Given the description of an element on the screen output the (x, y) to click on. 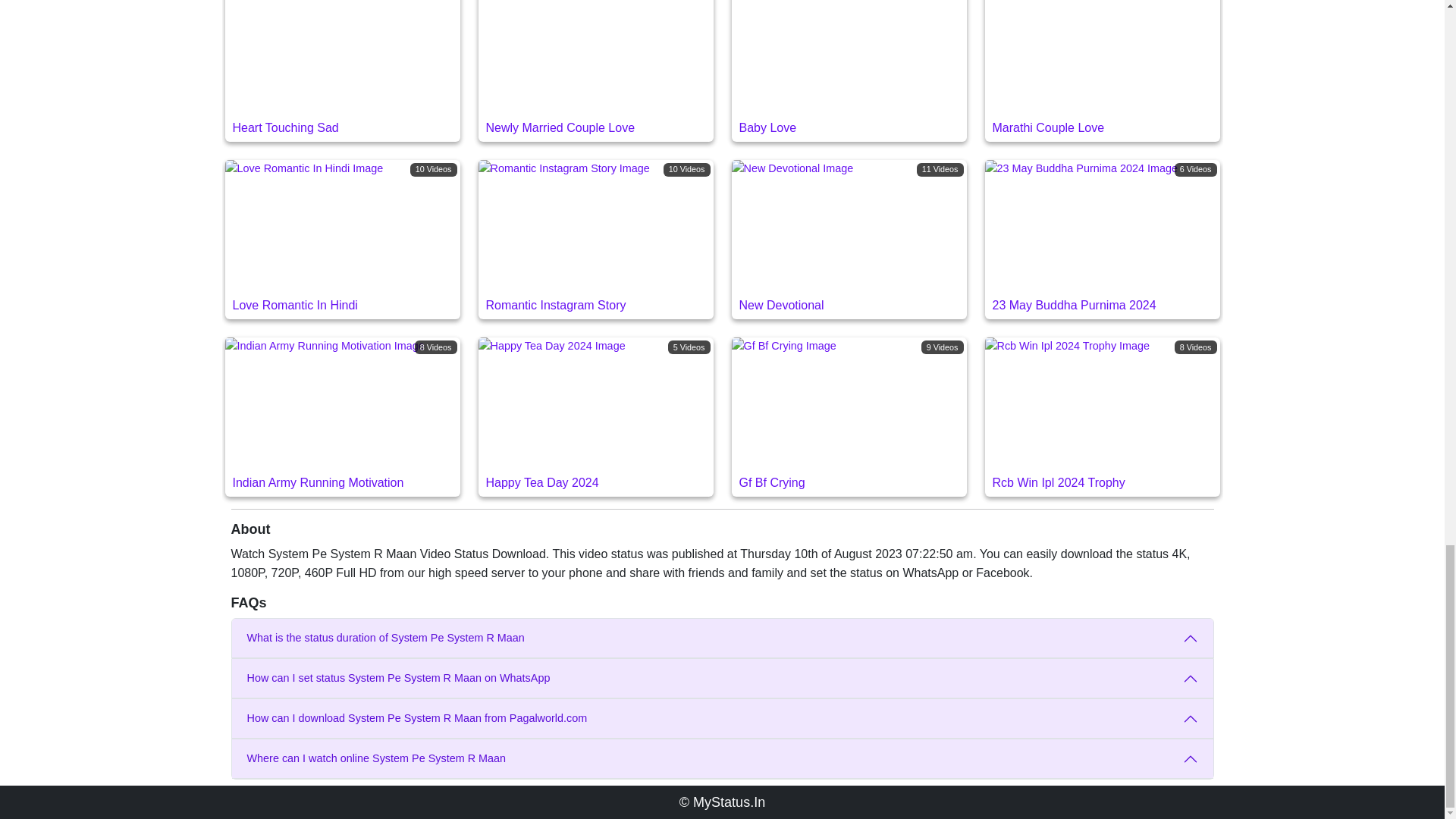
What is the status duration of System Pe System R Maan (848, 239)
Where can I watch online System Pe System R Maan (342, 416)
MyStatus.In (1102, 70)
How can I set status System Pe System R Maan on WhatsApp (721, 638)
